Given the description of an element on the screen output the (x, y) to click on. 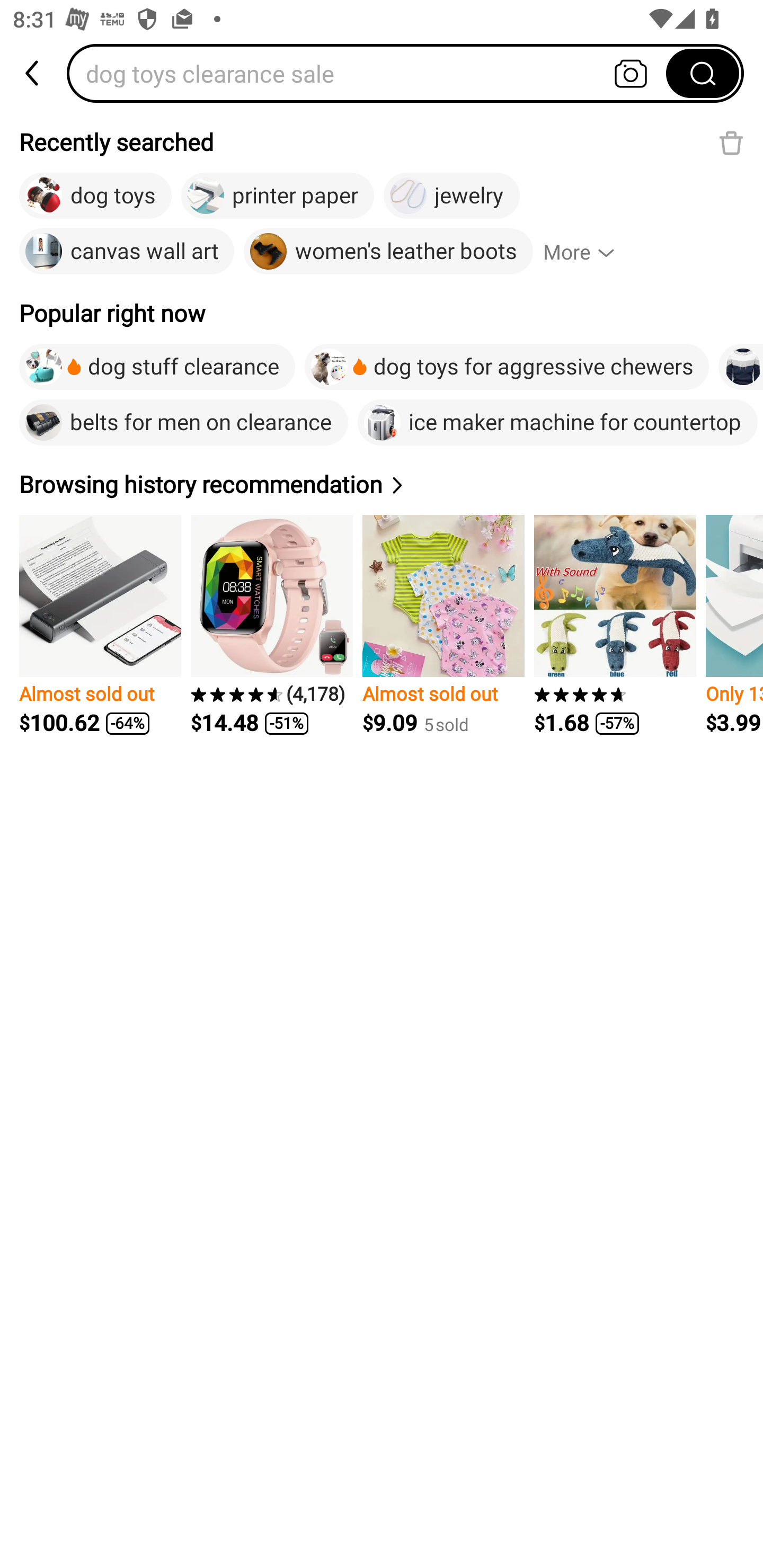
back (33, 72)
dog toys clearance sale (372, 73)
Search by photo (630, 73)
Delete recent search (731, 142)
dog toys (95, 195)
printer paper (277, 195)
jewelry (451, 195)
canvas wall art (126, 251)
women's leather boots (388, 251)
More (586, 251)
dog stuff clearance (157, 366)
dog toys for aggressive chewers (506, 366)
belts for men on clearance (183, 422)
ice maker machine for countertop (557, 422)
Browsing history recommendation (213, 484)
Almost sold out $100.62 -64% (100, 625)
(4,178) $14.48 -51% (271, 625)
Almost sold out $9.09 5￼sold (443, 625)
$1.68 -57% (614, 625)
